Given the description of an element on the screen output the (x, y) to click on. 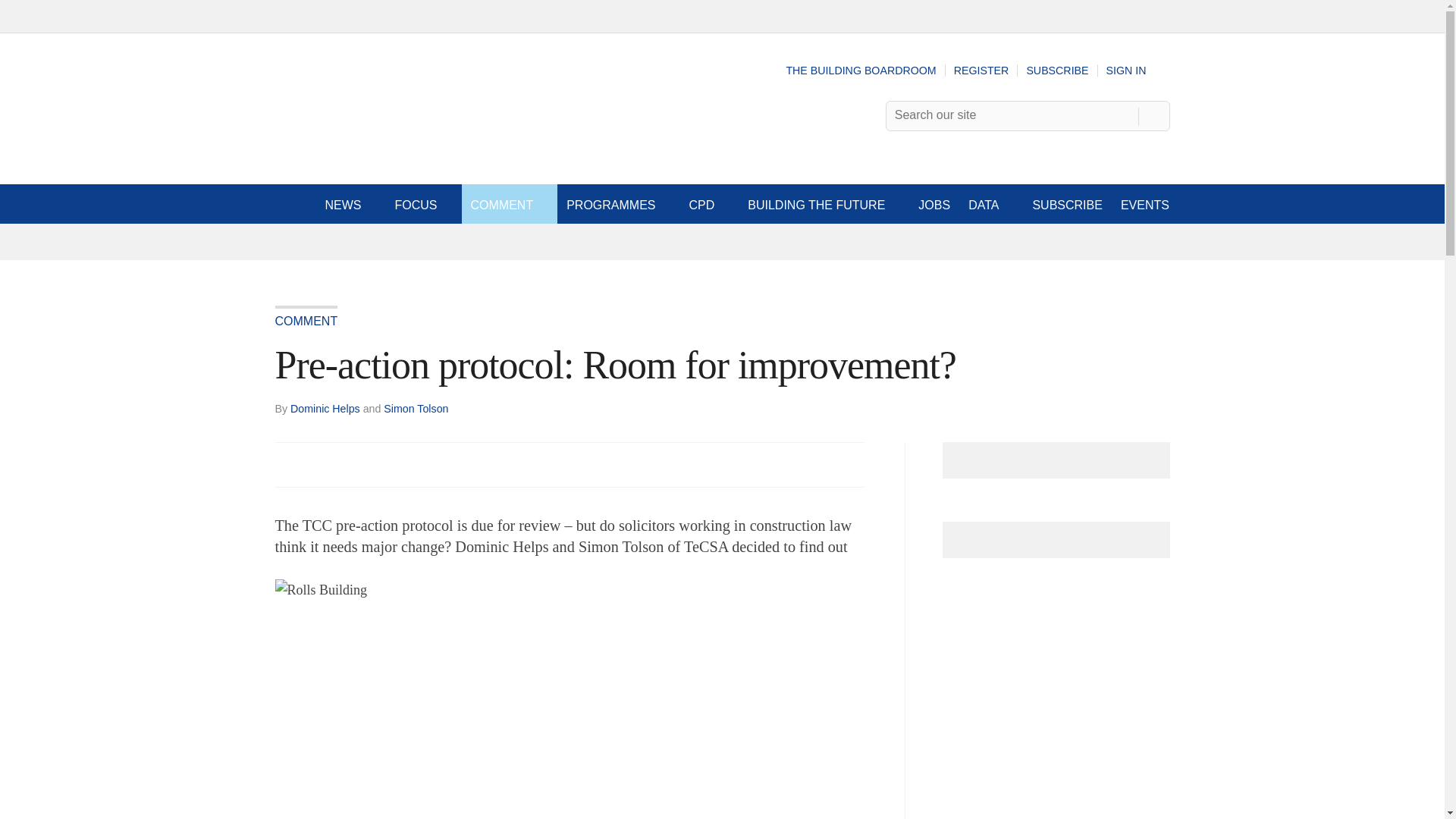
THE BUILDING BOARDROOM (861, 70)
Insert Logo text (356, 152)
REGISTER (981, 70)
Email this article (386, 463)
Share this on Linked in (352, 463)
Share this on Twitter (320, 463)
SUBSCRIBE (1056, 70)
SEARCH (1153, 115)
Share this on Facebook (288, 463)
No comments (840, 473)
SIGN IN (1138, 70)
